Given the description of an element on the screen output the (x, y) to click on. 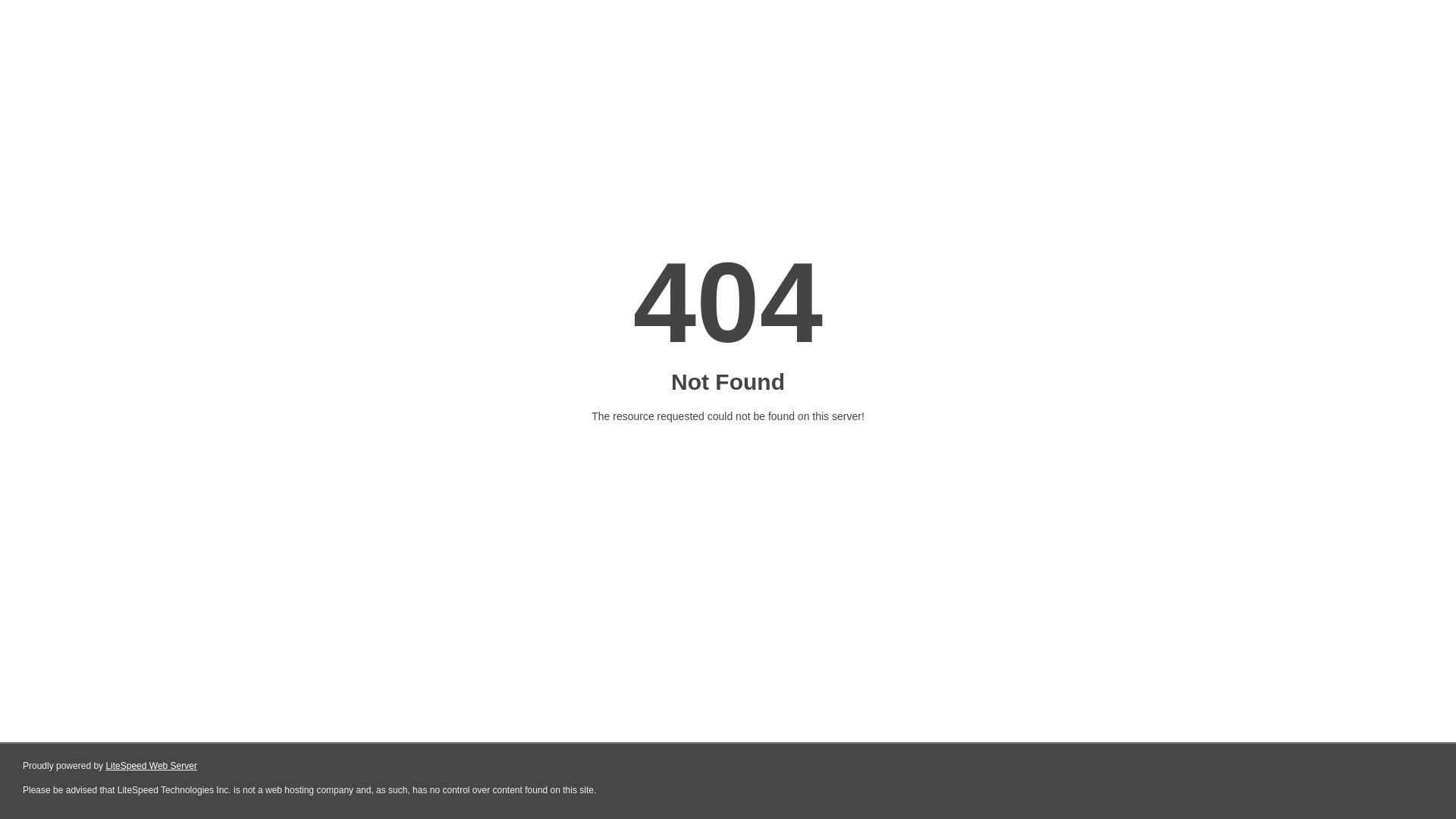
LiteSpeed Web Server Element type: text (151, 765)
